Given the description of an element on the screen output the (x, y) to click on. 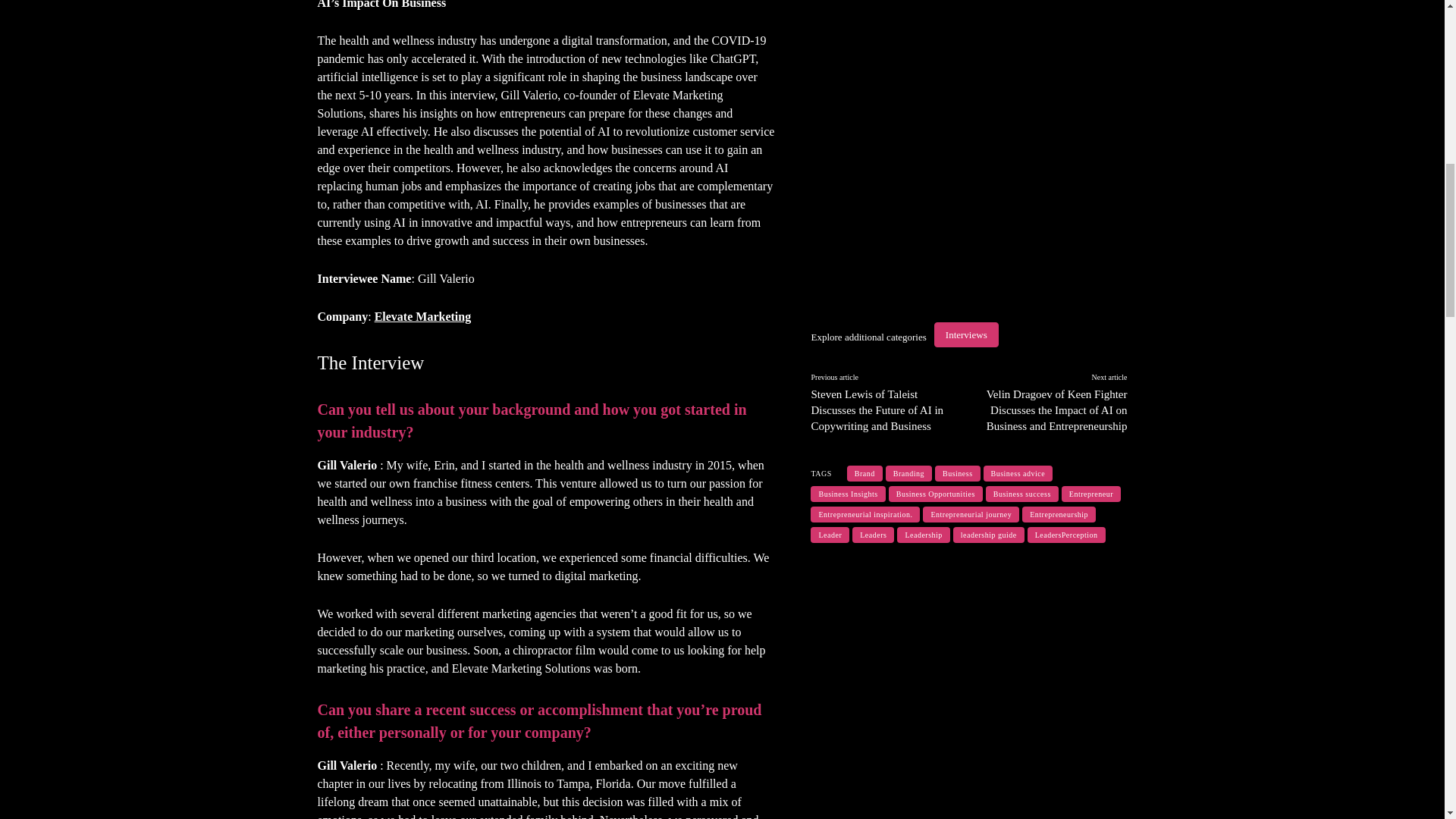
Branding (908, 473)
Business (956, 473)
Business advice (1018, 473)
Interviews (966, 334)
Brand (864, 473)
Elevate Marketing (422, 316)
